Given the description of an element on the screen output the (x, y) to click on. 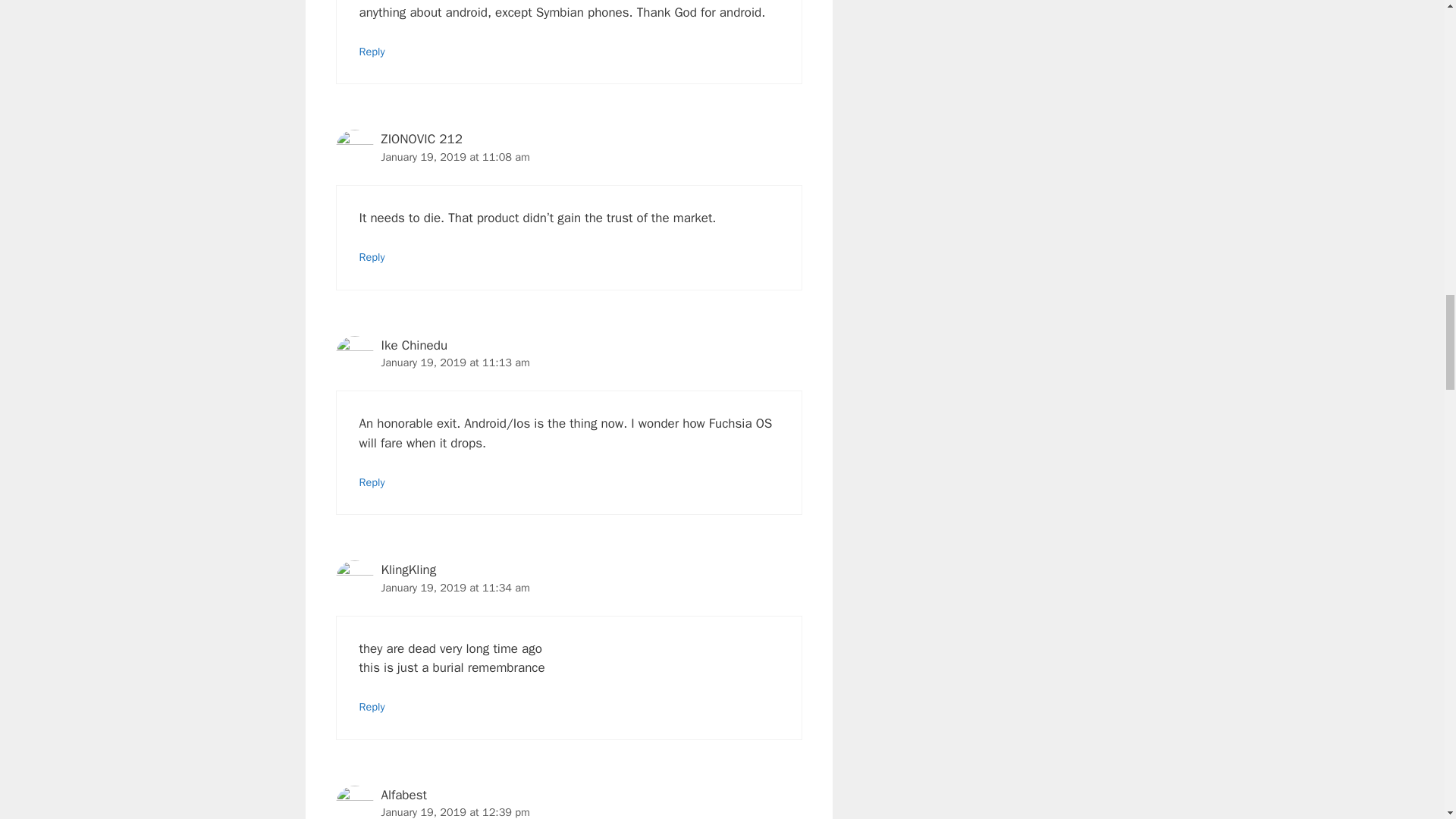
Reply (372, 256)
January 19, 2019 at 11:13 am (454, 362)
January 19, 2019 at 12:39 pm (454, 812)
January 19, 2019 at 11:08 am (454, 156)
Reply (372, 481)
Reply (372, 51)
January 19, 2019 at 11:34 am (454, 587)
Reply (372, 706)
